Given the description of an element on the screen output the (x, y) to click on. 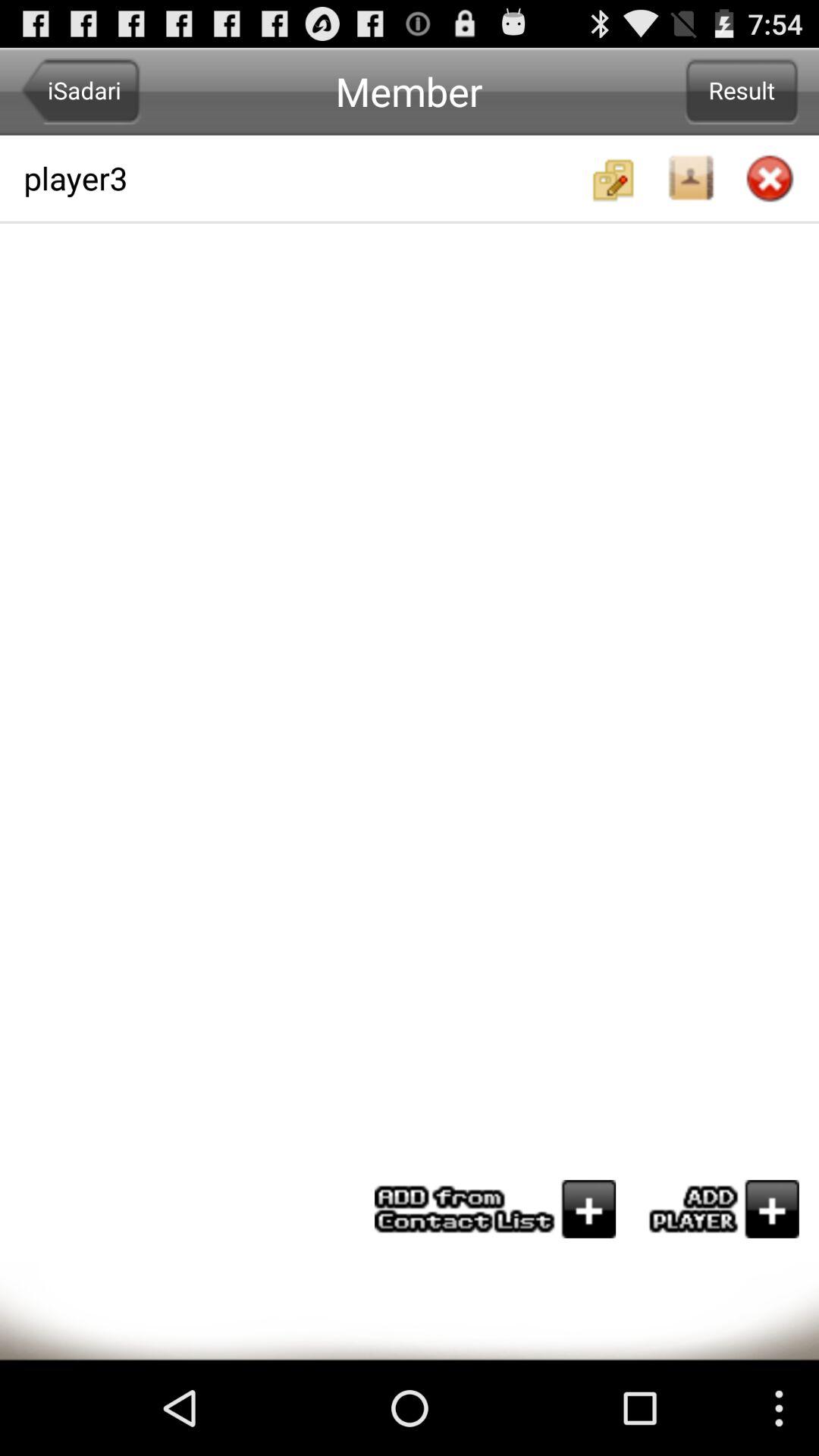
flip until result item (741, 91)
